Given the description of an element on the screen output the (x, y) to click on. 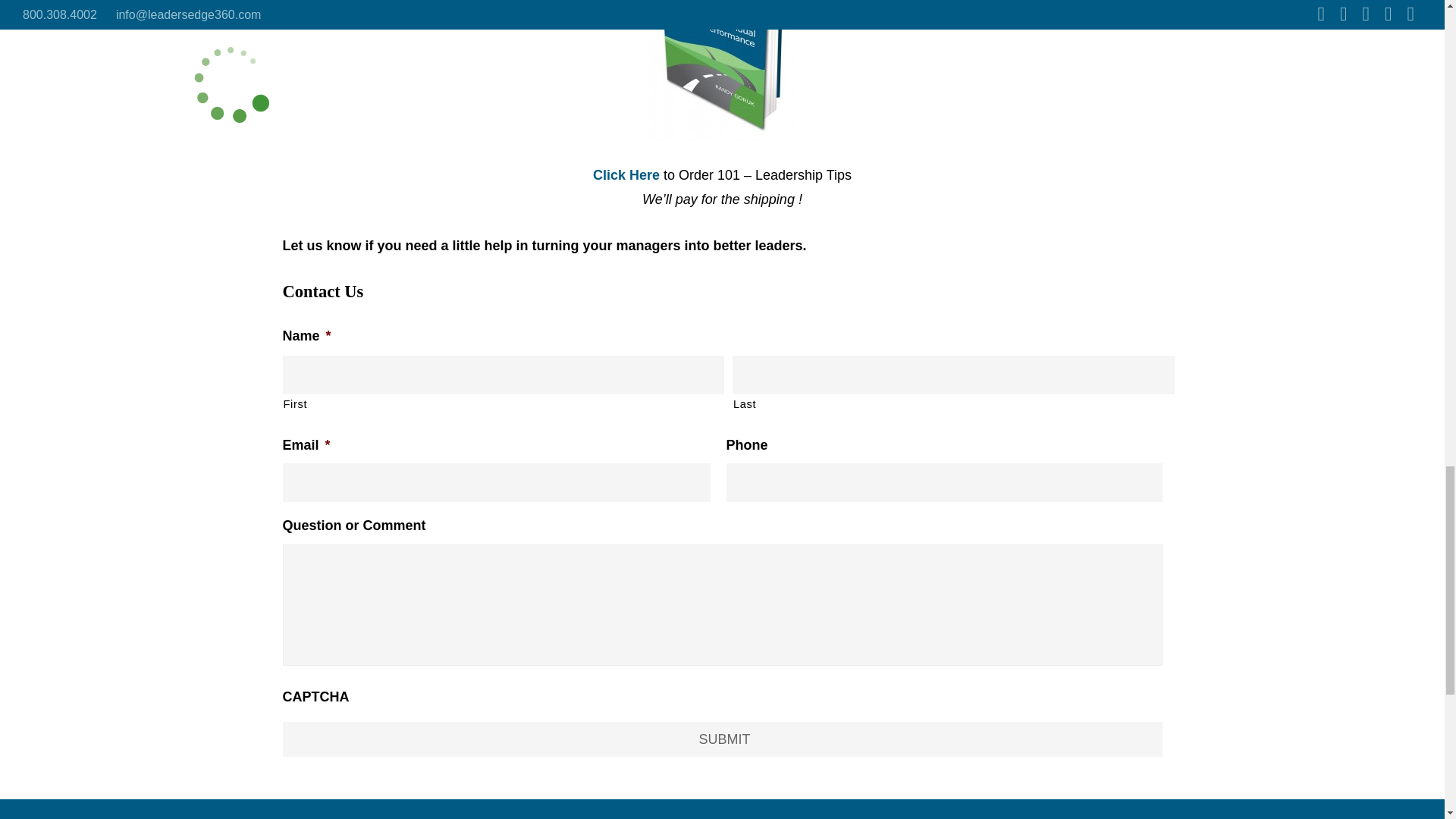
Submit (721, 738)
